Given the description of an element on the screen output the (x, y) to click on. 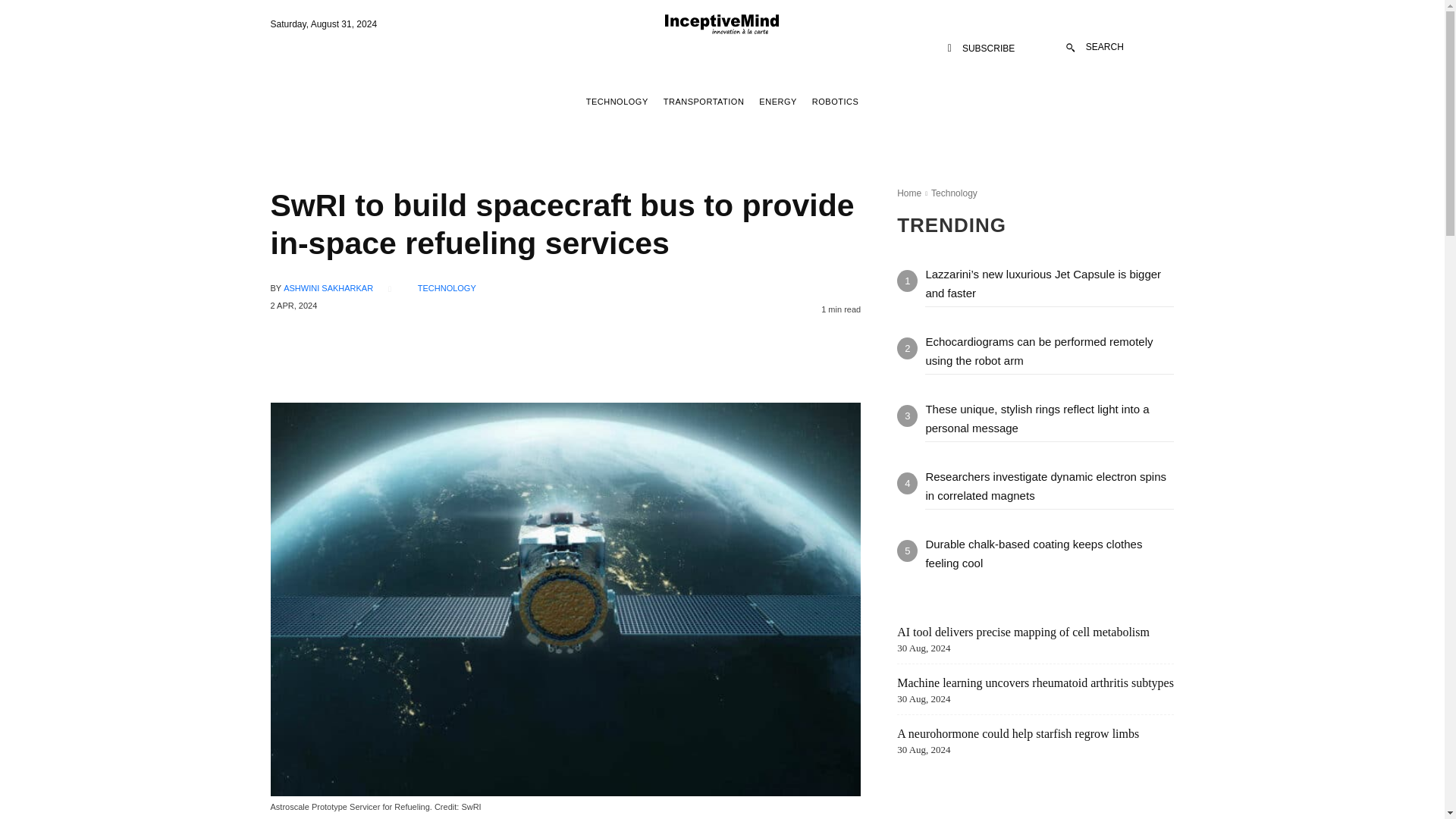
TRANSPORTATION (703, 101)
ENERGY (777, 101)
Durable chalk-based coating keeps clothes feeling cool (1032, 553)
AI tool delivers precise mapping of cell metabolism (1023, 631)
SEARCH (1094, 46)
SUBSCRIBE (980, 48)
A neurohormone could help starfish regrow limbs (1017, 733)
ROBOTICS (834, 101)
